Given the description of an element on the screen output the (x, y) to click on. 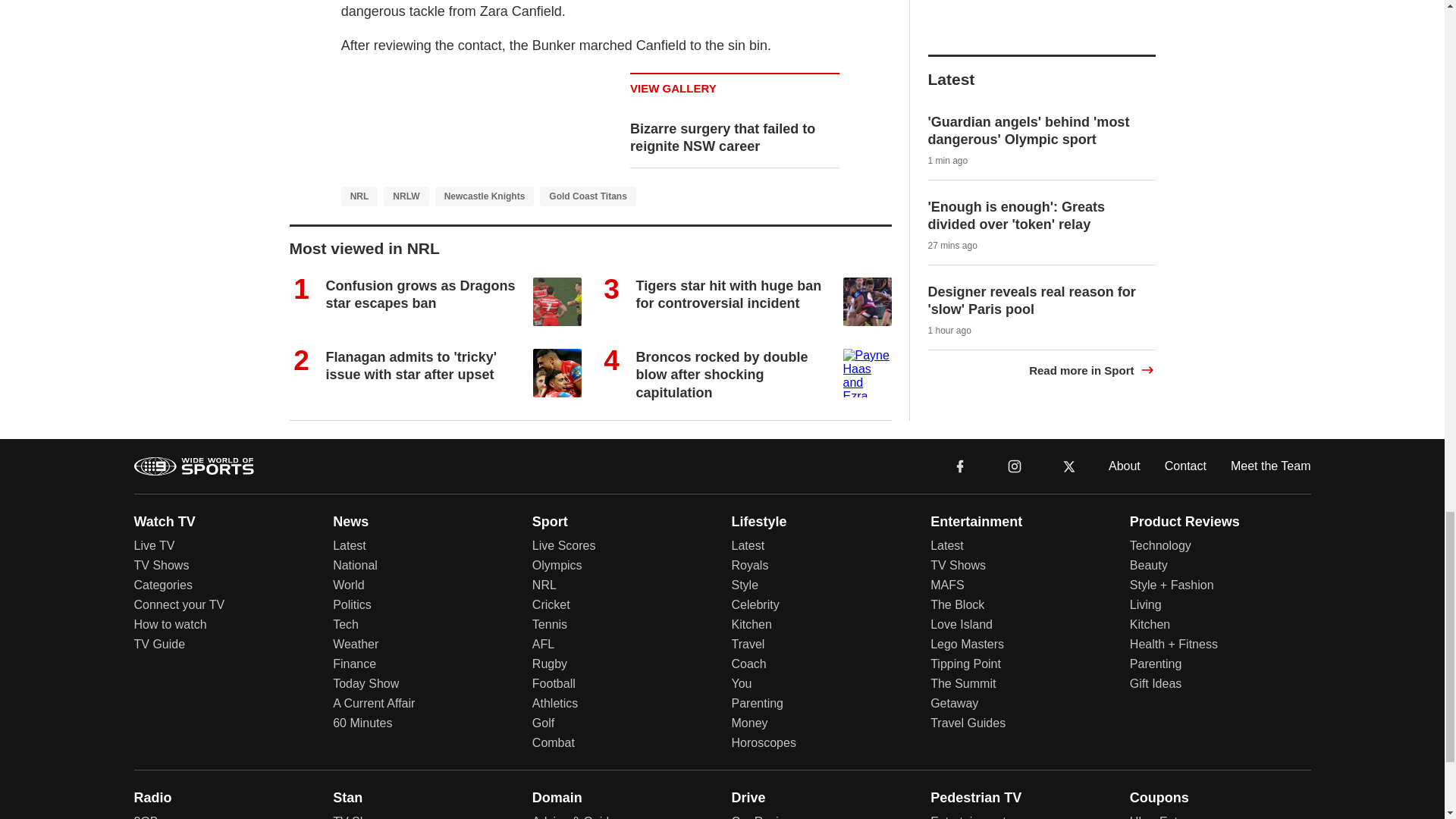
instagram (1013, 465)
instagram (1014, 466)
Flanagan admits to 'tricky' issue with star after upset (411, 365)
facebook (960, 466)
x (1069, 465)
x (1069, 466)
Confusion grows as Dragons star escapes ban (420, 294)
NRLW (406, 196)
facebook (959, 465)
NRL (359, 196)
